Given the description of an element on the screen output the (x, y) to click on. 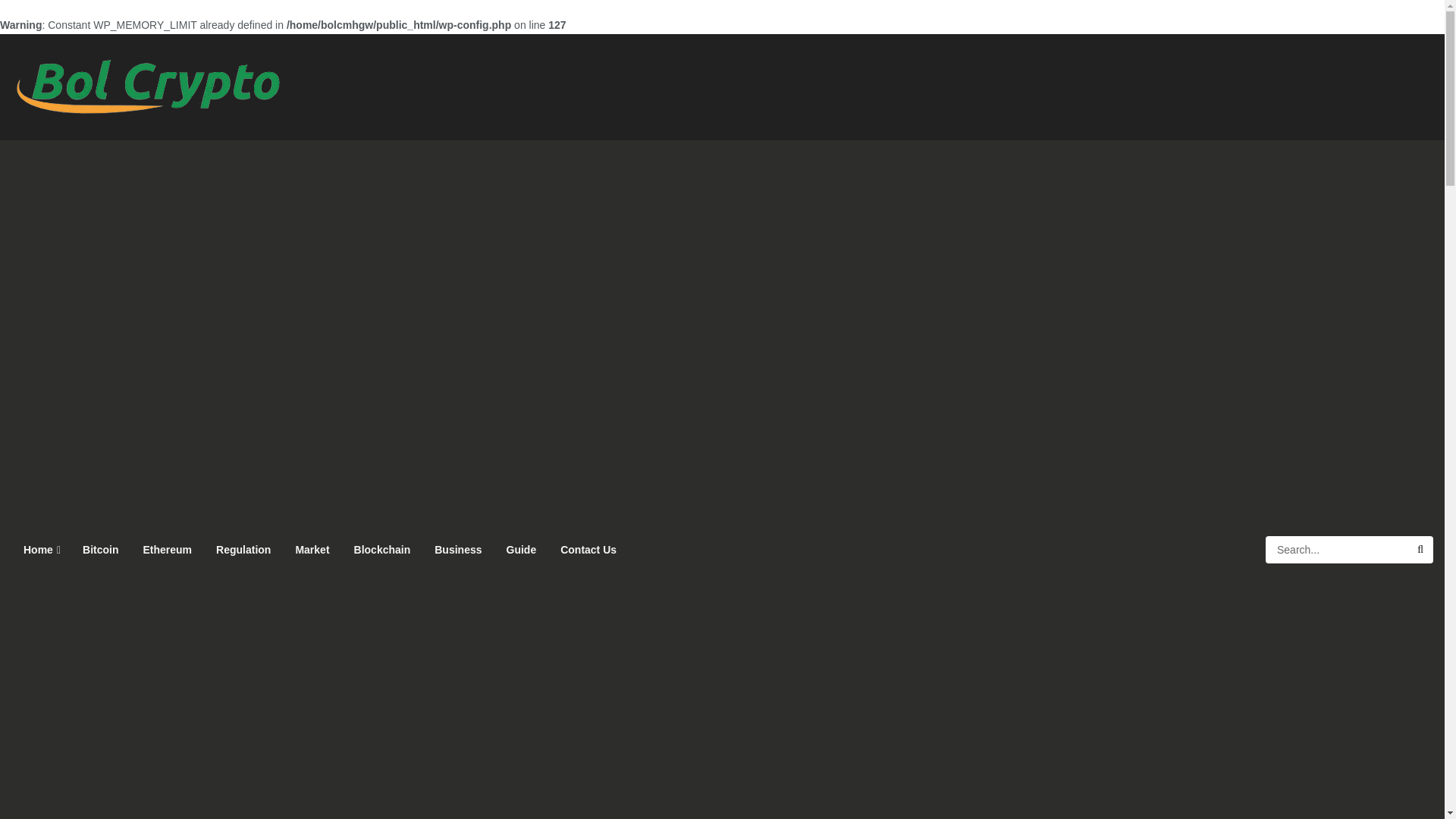
Business (457, 549)
Home (40, 549)
Guide (521, 549)
Blockchain (382, 549)
Regulation (242, 549)
Bitcoin (100, 549)
Contact Us (588, 549)
Ethereum (167, 549)
Market (311, 549)
